Given the description of an element on the screen output the (x, y) to click on. 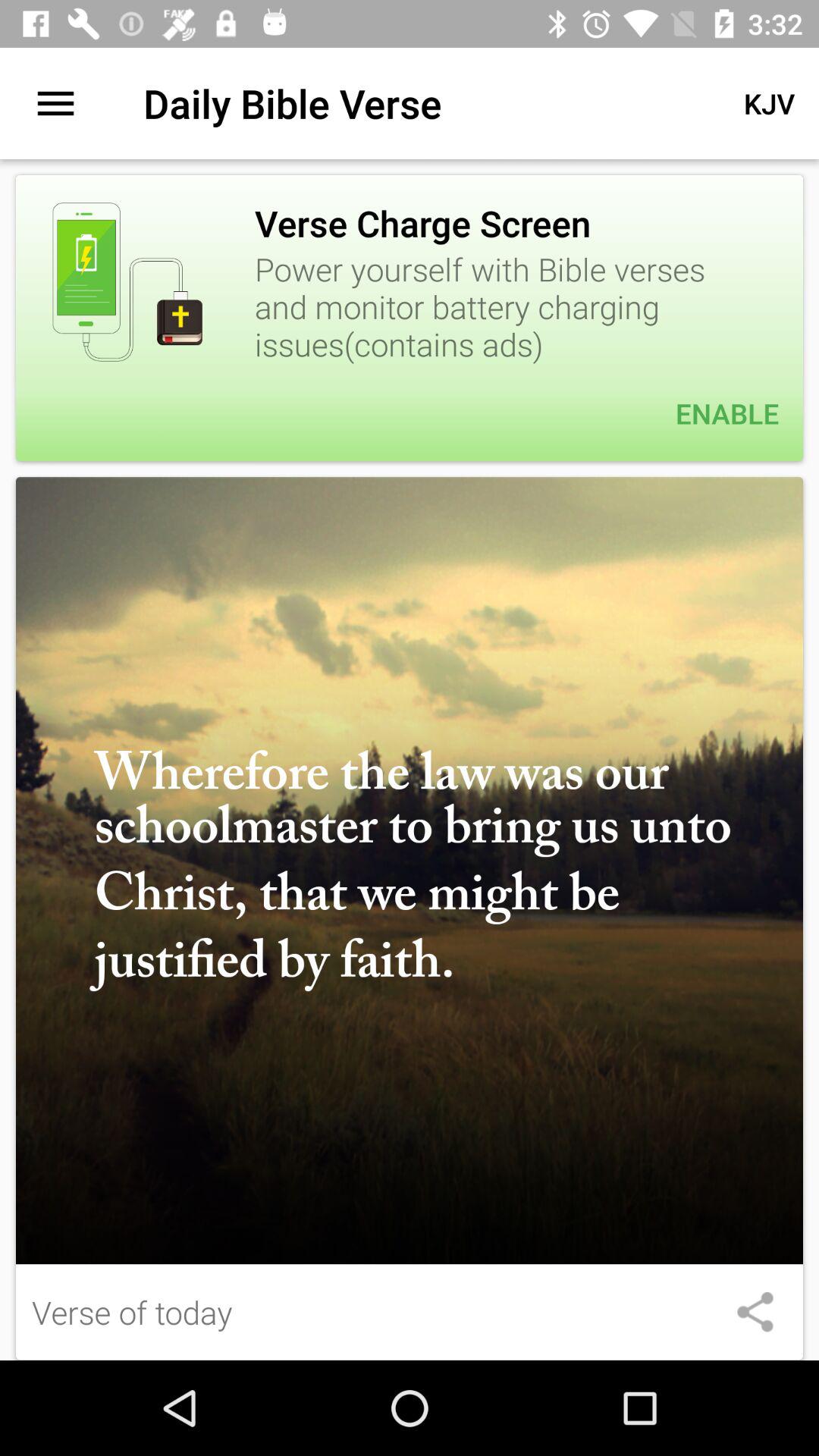
turn on the icon at the top right corner (769, 103)
